Given the description of an element on the screen output the (x, y) to click on. 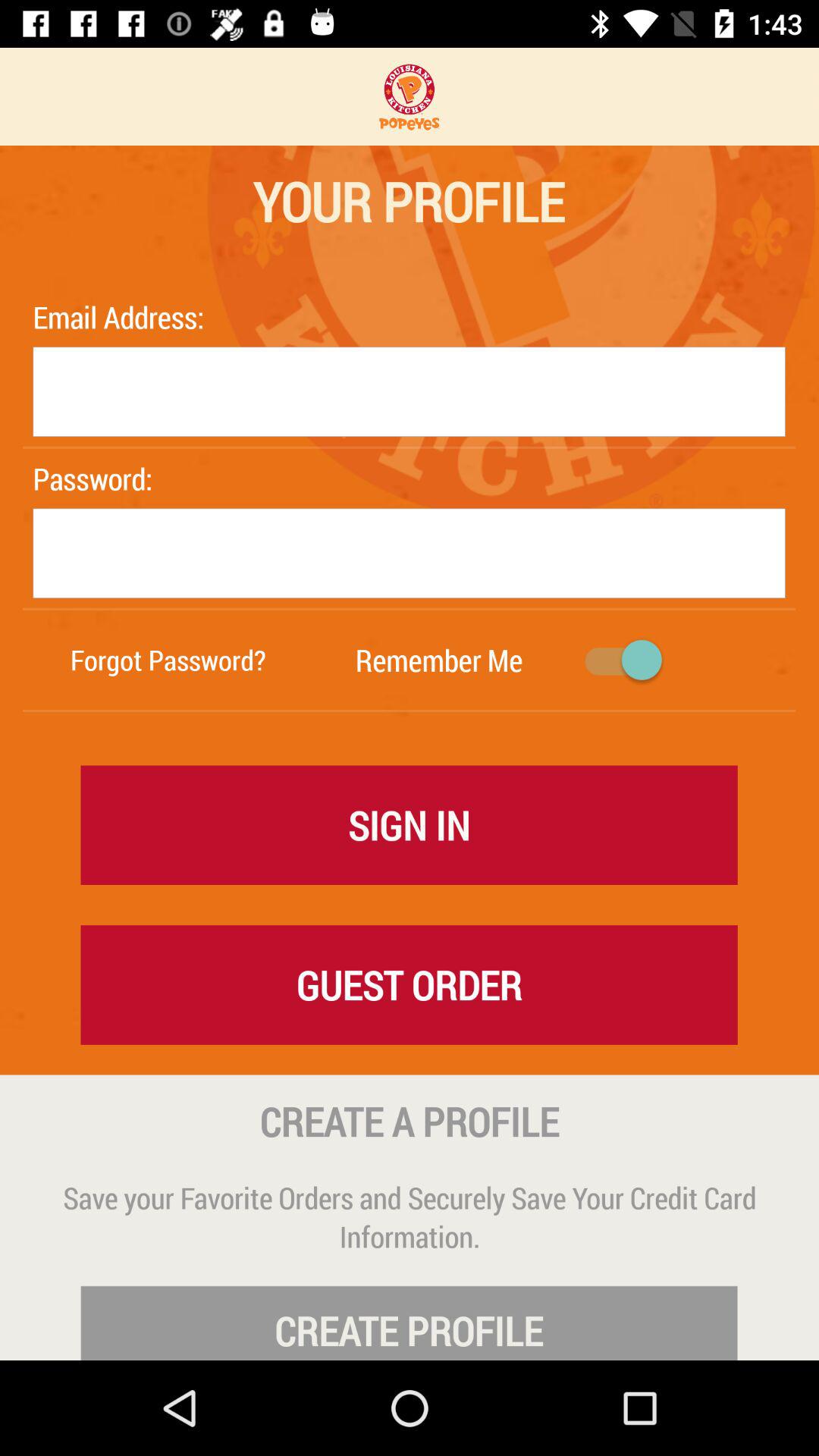
tap email address: item (122, 316)
